Given the description of an element on the screen output the (x, y) to click on. 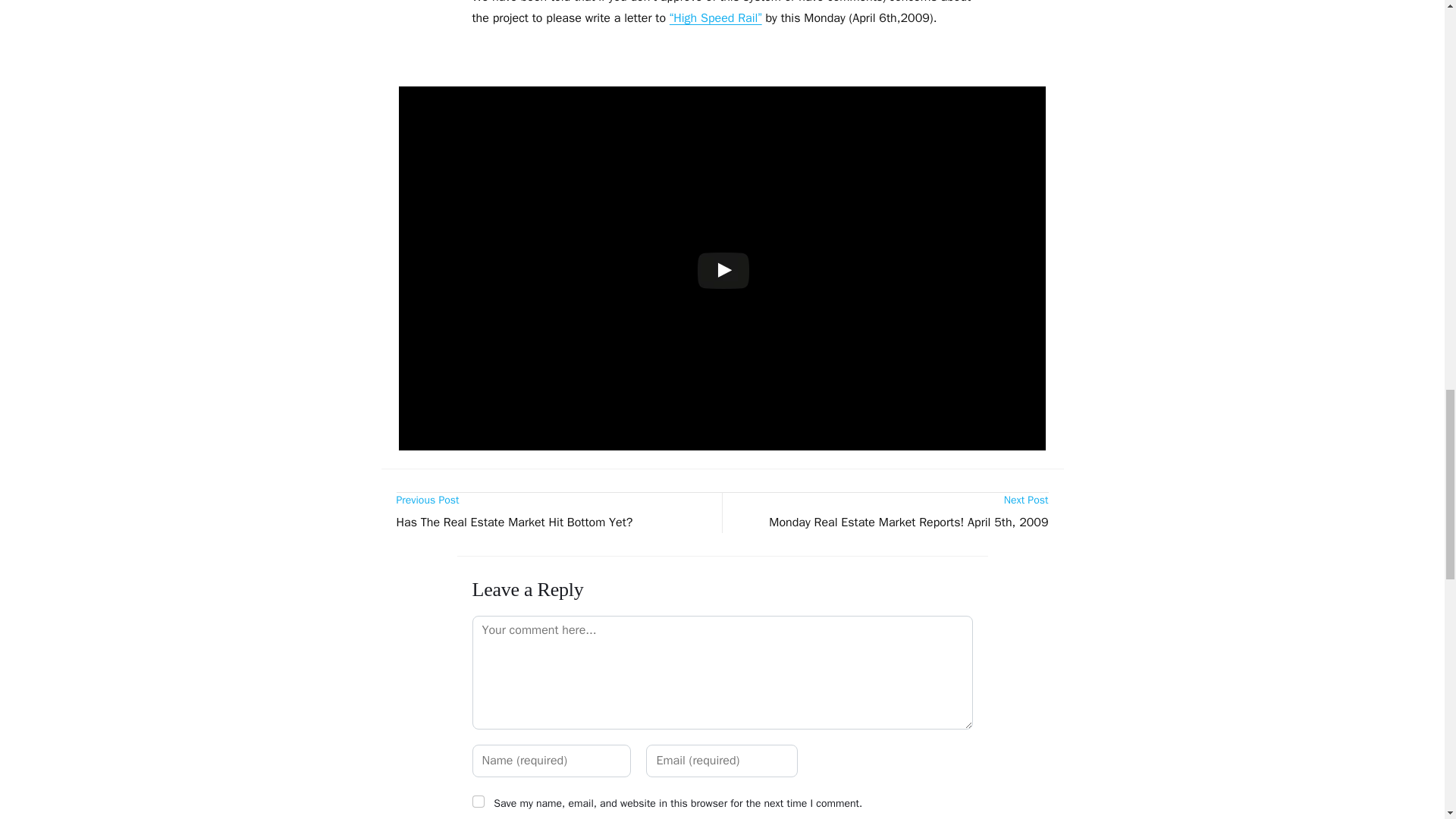
yes (892, 513)
